Given the description of an element on the screen output the (x, y) to click on. 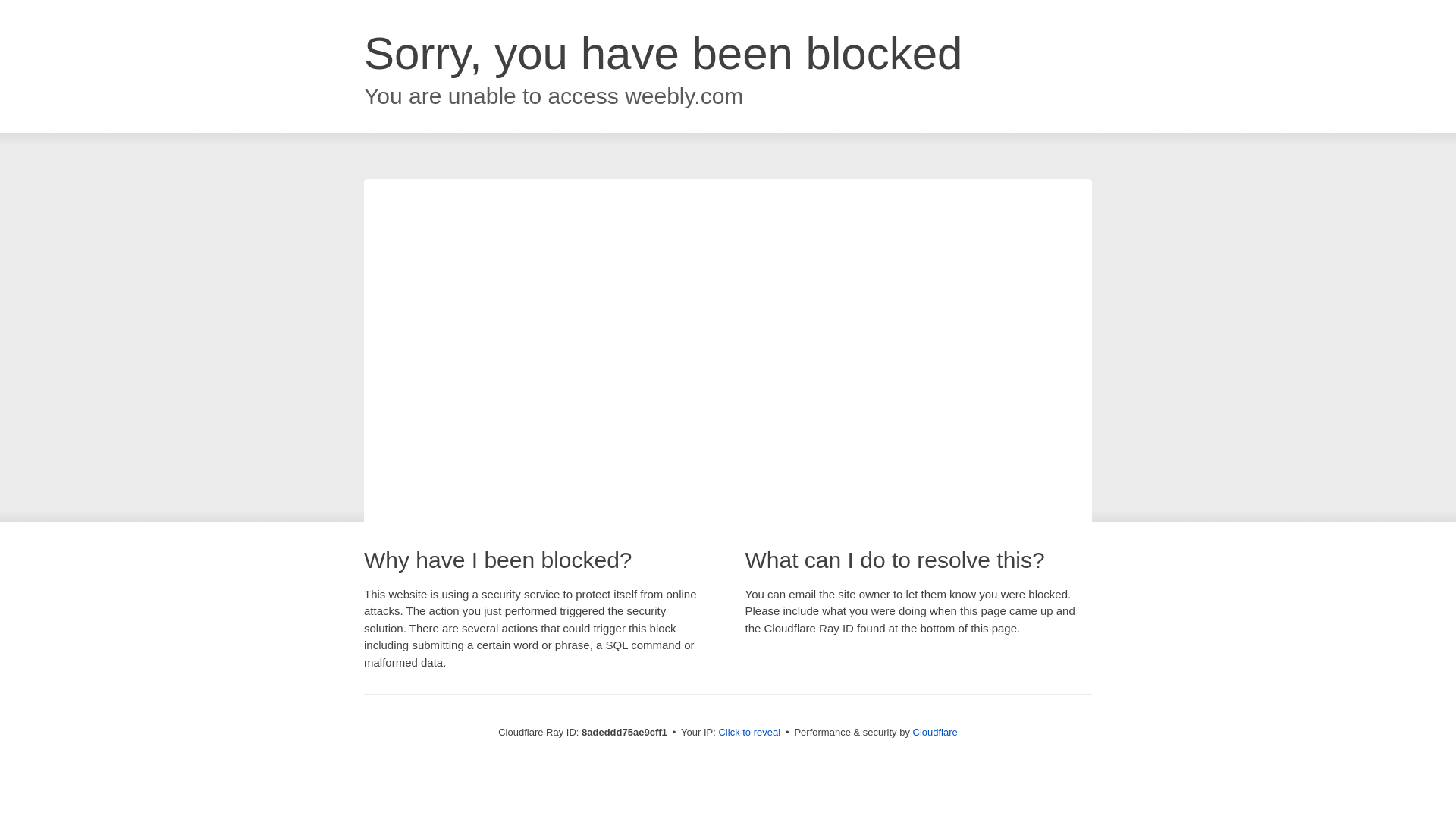
Cloudflare (935, 731)
Click to reveal (748, 732)
